Given the description of an element on the screen output the (x, y) to click on. 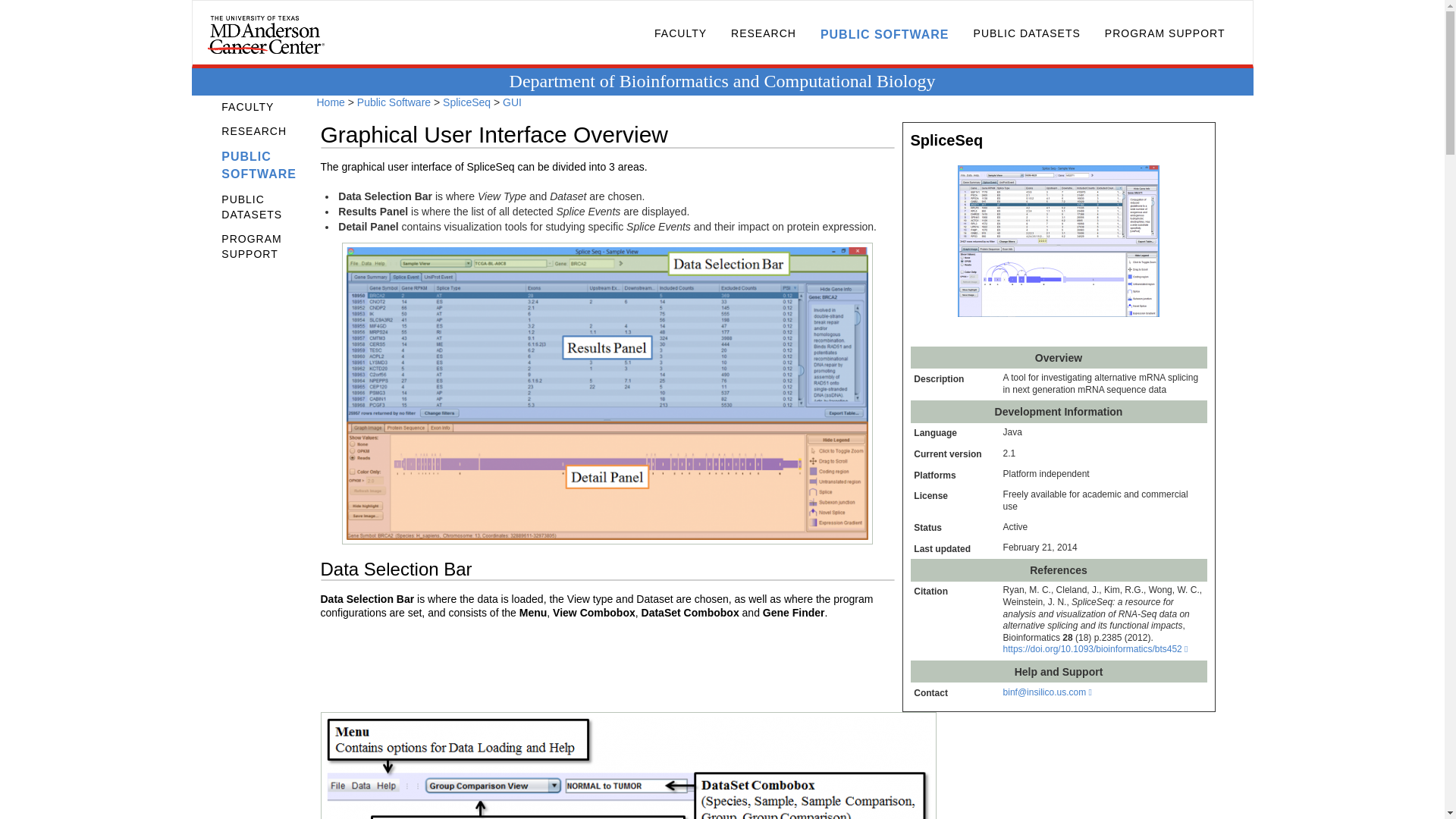
Research (269, 131)
Public Software (269, 166)
RESEARCH (269, 131)
RESEARCH (763, 33)
Faculty (680, 33)
Home (328, 102)
Public Software (884, 34)
Research (763, 33)
GUI (511, 102)
Faculty (269, 107)
Program Support (269, 246)
Public Software (393, 102)
PUBLIC DATASETS (269, 207)
PUBLIC SOFTWARE (269, 166)
FACULTY (680, 33)
